Given the description of an element on the screen output the (x, y) to click on. 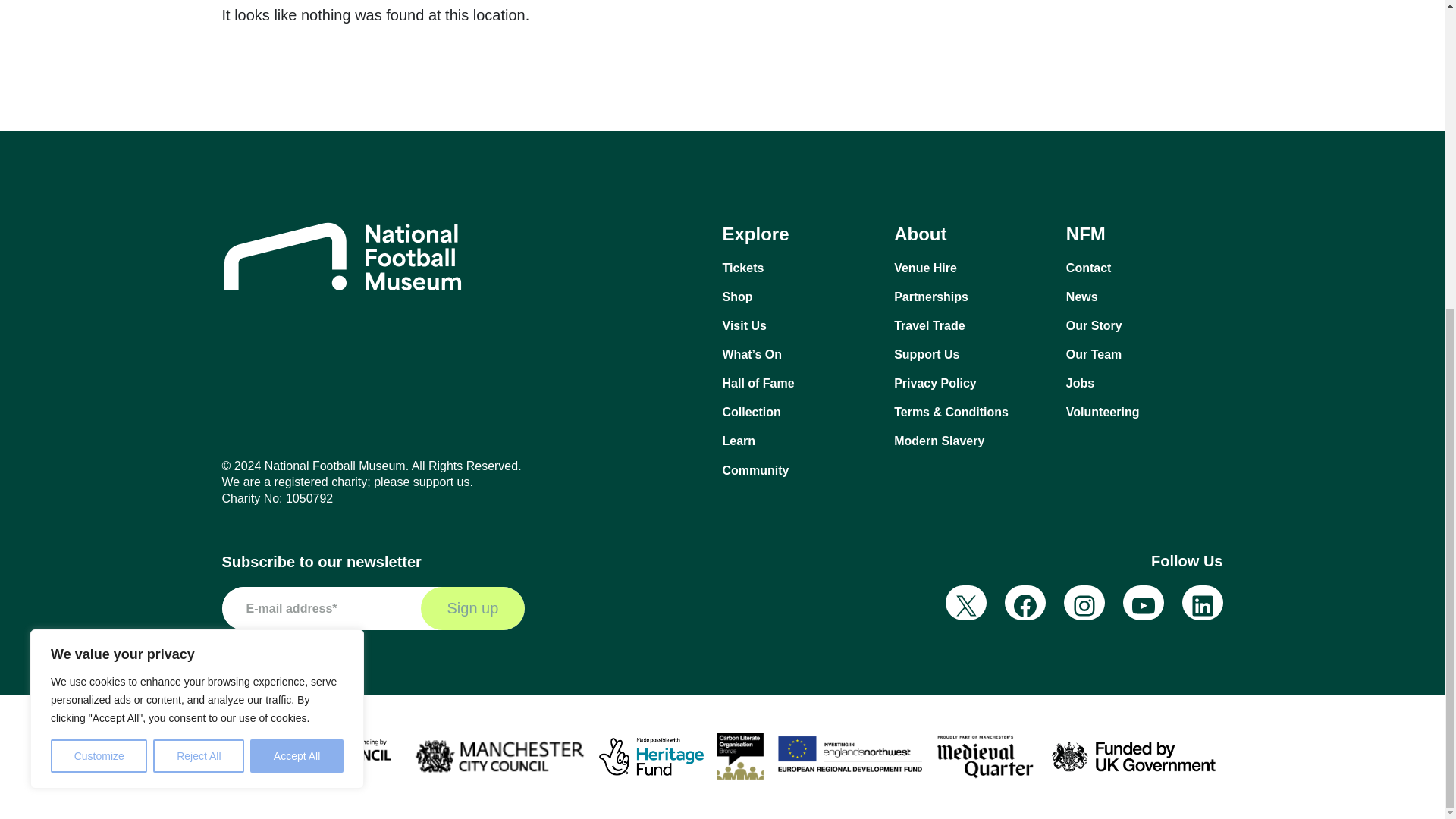
Partnerships (972, 297)
Tickets (800, 268)
Learn (800, 441)
Accept All (296, 264)
Collection (800, 412)
Customize (98, 264)
Community (800, 470)
Sign up (472, 608)
Hall of Fame (800, 383)
Reject All (198, 264)
Shop (800, 297)
Venue Hire (972, 268)
Visit Us (800, 325)
